Given the description of an element on the screen output the (x, y) to click on. 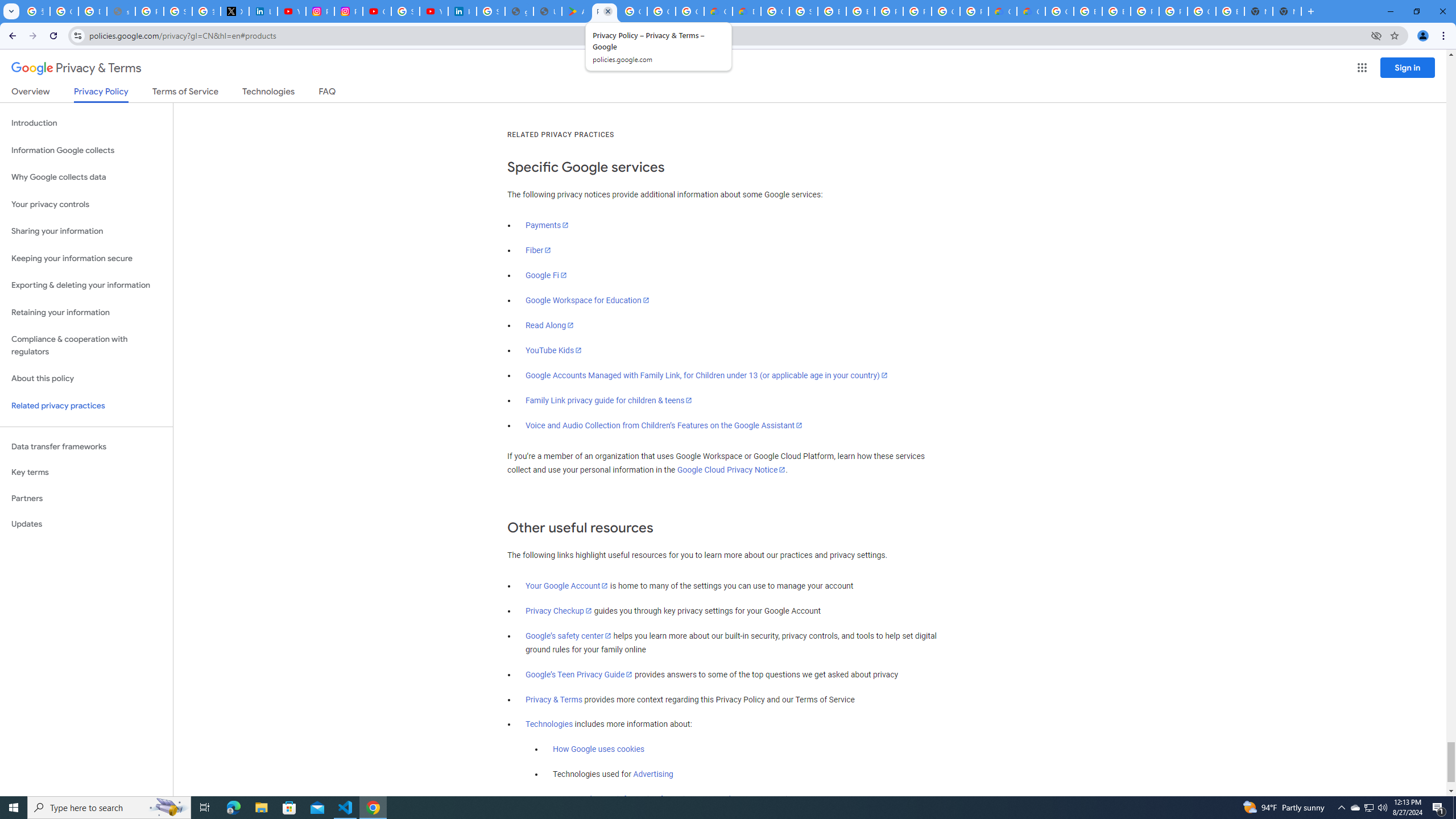
Android Apps on Google Play (575, 11)
Overview (30, 93)
FAQ (327, 93)
Google Cloud Privacy Notice (731, 469)
Identity verification via Persona | LinkedIn Help (461, 11)
Google Workspace - Specific Terms (661, 11)
Key terms (86, 472)
Google Cloud Platform (1058, 11)
